Given the description of an element on the screen output the (x, y) to click on. 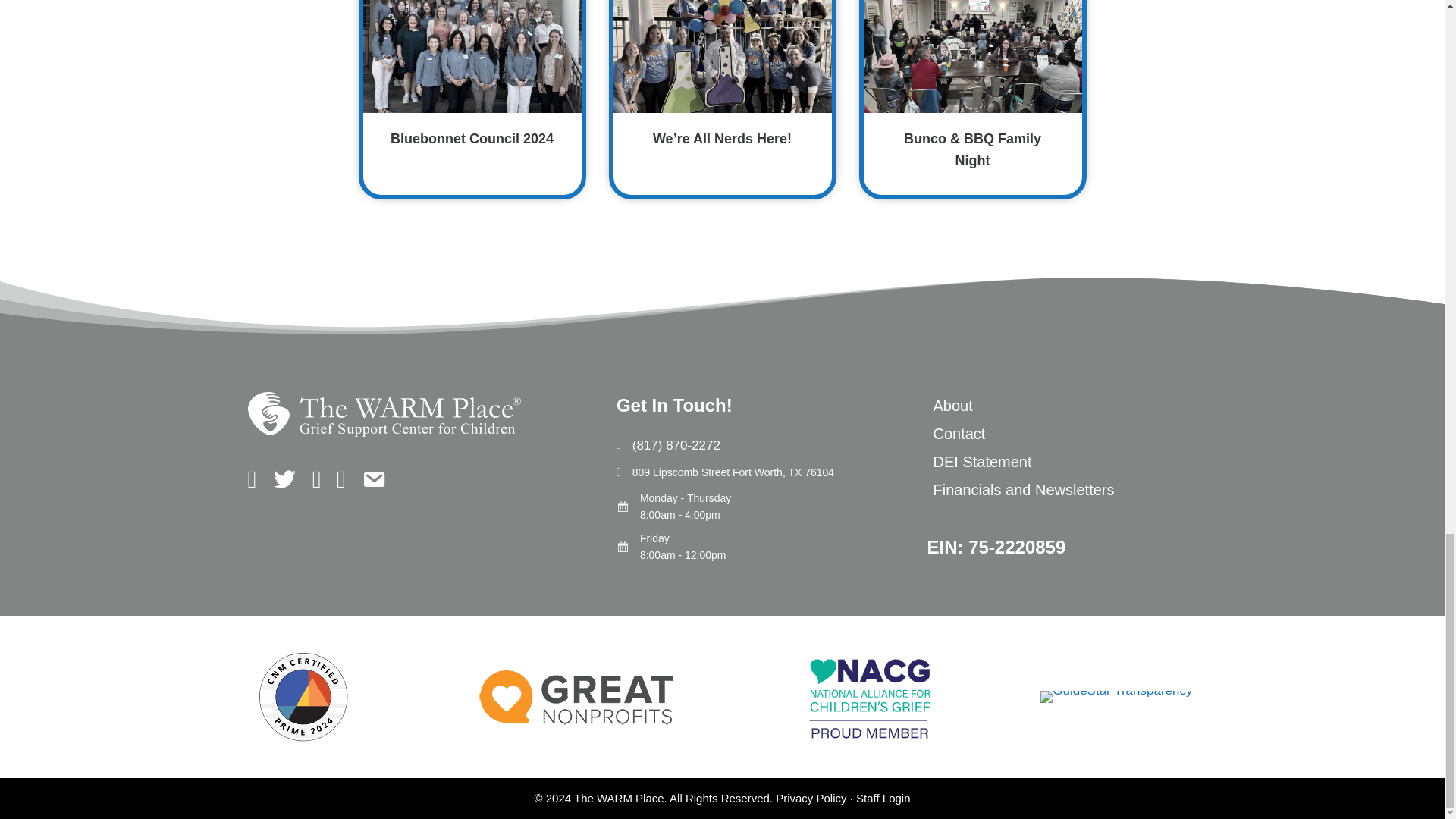
great-nonprofits-logo (576, 695)
CNM Certified Prime 2024 (302, 696)
Bluebonnet Council 2024 (471, 97)
